Given the description of an element on the screen output the (x, y) to click on. 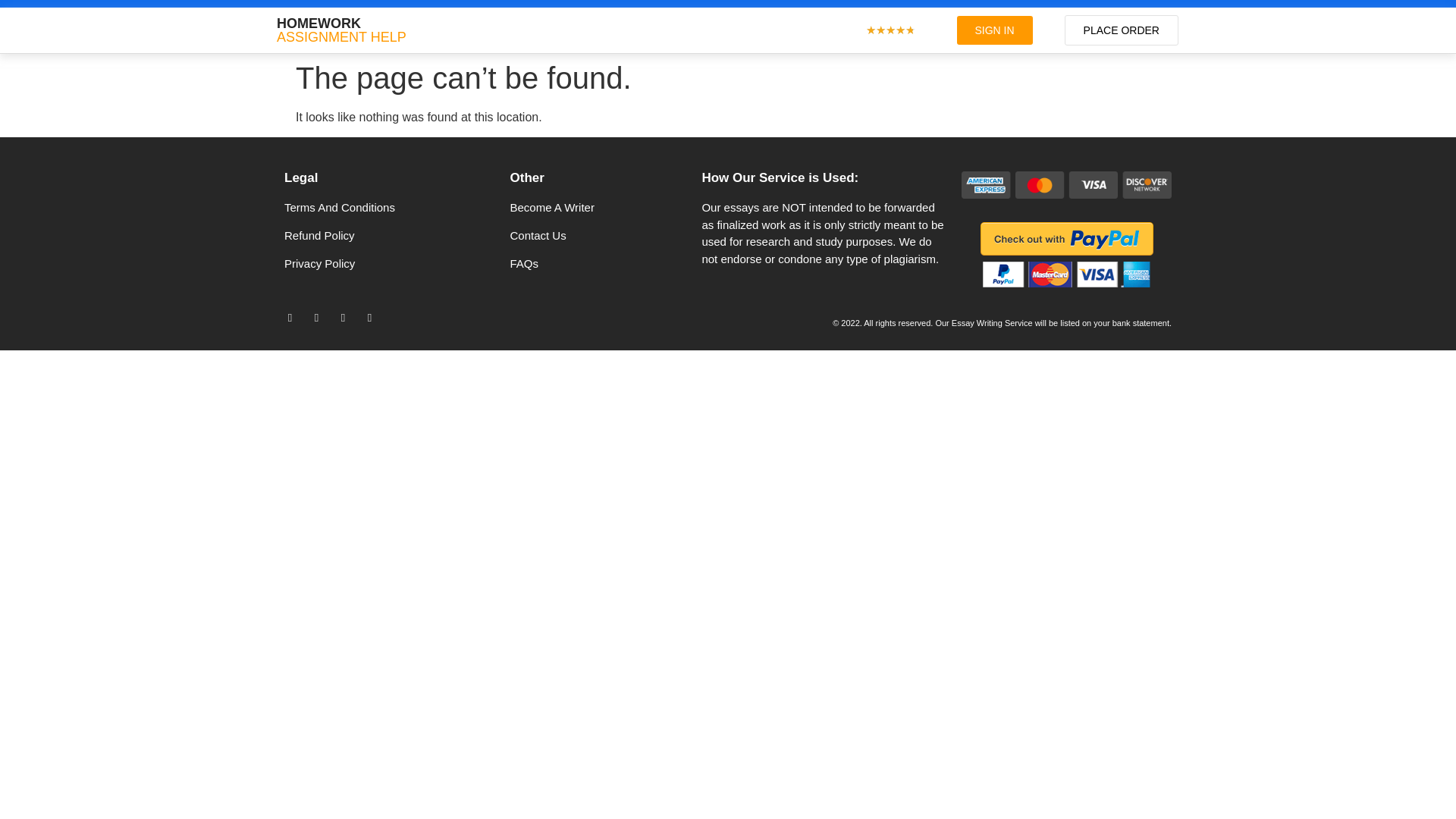
SIGN IN (994, 30)
PLACE ORDER (1120, 30)
HOMEWORK ASSIGNMENT HELP (341, 30)
